Given the description of an element on the screen output the (x, y) to click on. 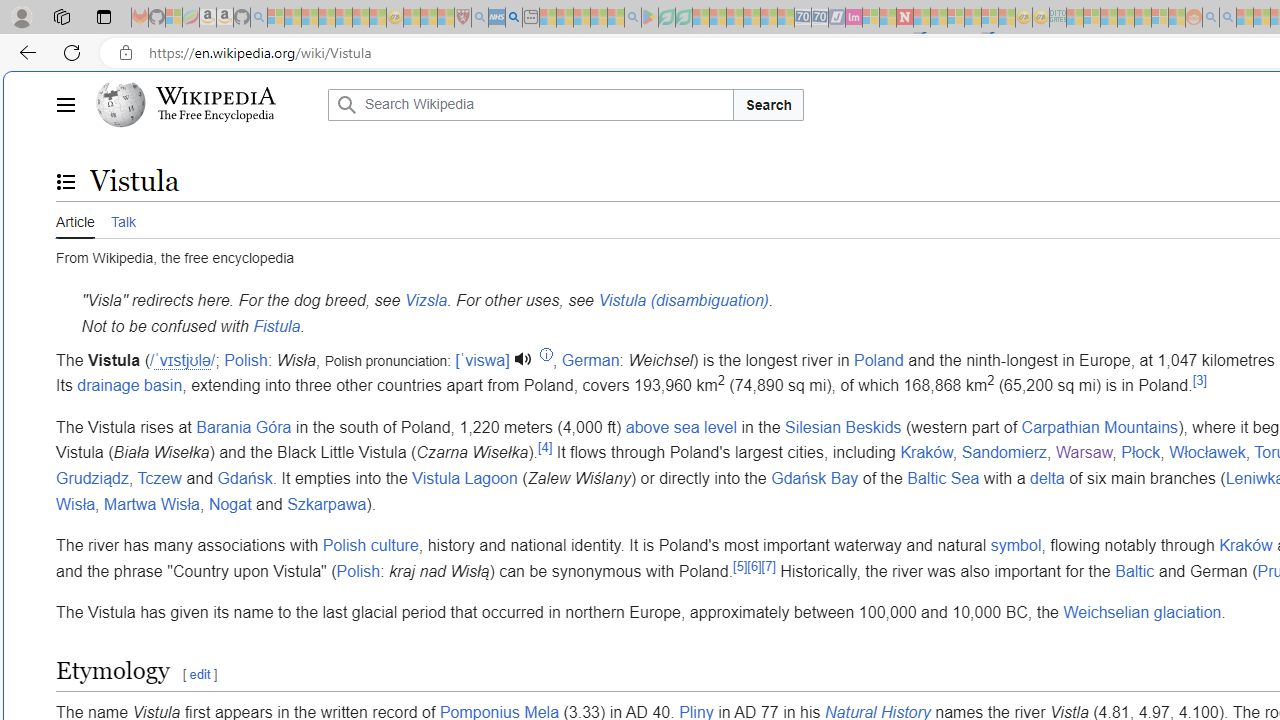
[5] (740, 565)
Microsoft account | Privacy - Sleeping (1091, 17)
Microsoft Start - Sleeping (1244, 17)
Sandomierz (1004, 453)
Cheap Hotels - Save70.com - Sleeping (819, 17)
Polish culture (370, 546)
list of asthma inhalers uk - Search - Sleeping (479, 17)
Main menu (65, 104)
Terms of Use Agreement - Sleeping (666, 17)
